Given the description of an element on the screen output the (x, y) to click on. 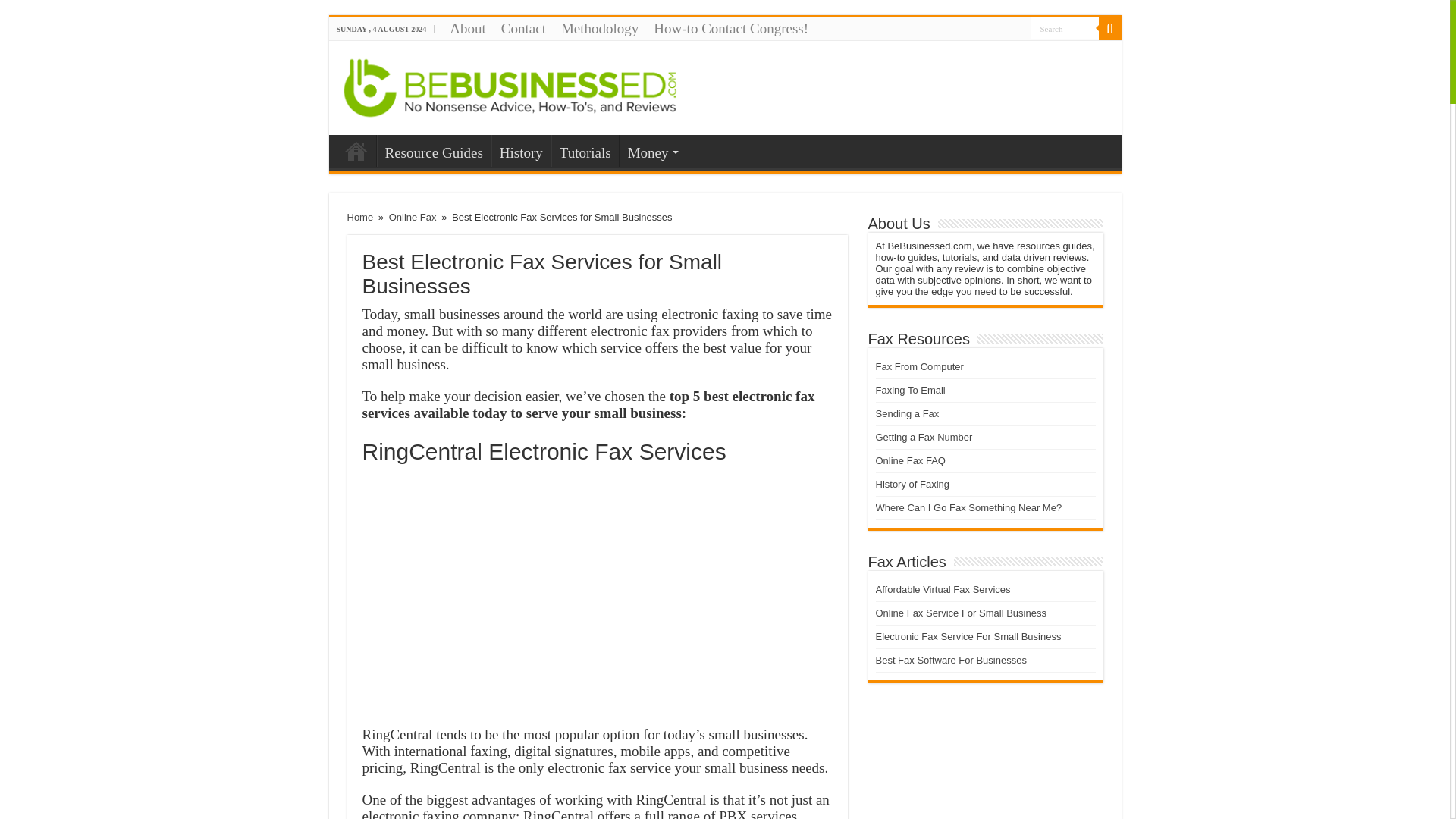
Tutorials (584, 151)
Methodology (599, 28)
Search (1063, 28)
Online Fax (412, 216)
How-to Contact Congress! (730, 28)
RingCentral Fax (597, 596)
Menu Item (355, 151)
Search (1109, 28)
Search (1063, 28)
Contact (523, 28)
About (467, 28)
History (521, 151)
Home (360, 216)
Money (652, 151)
